Given the description of an element on the screen output the (x, y) to click on. 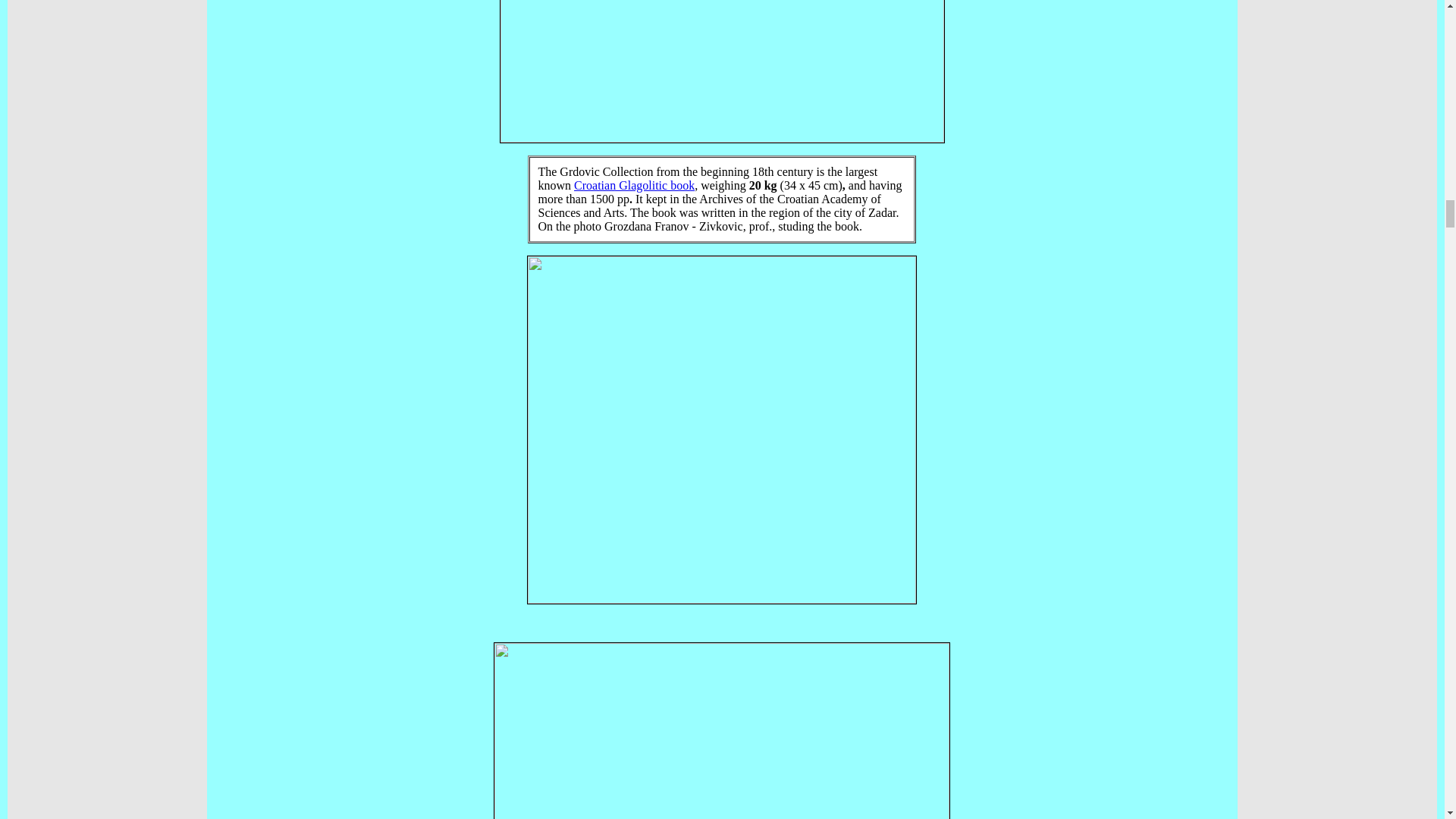
Croatian Glagolitic book (633, 185)
